Given the description of an element on the screen output the (x, y) to click on. 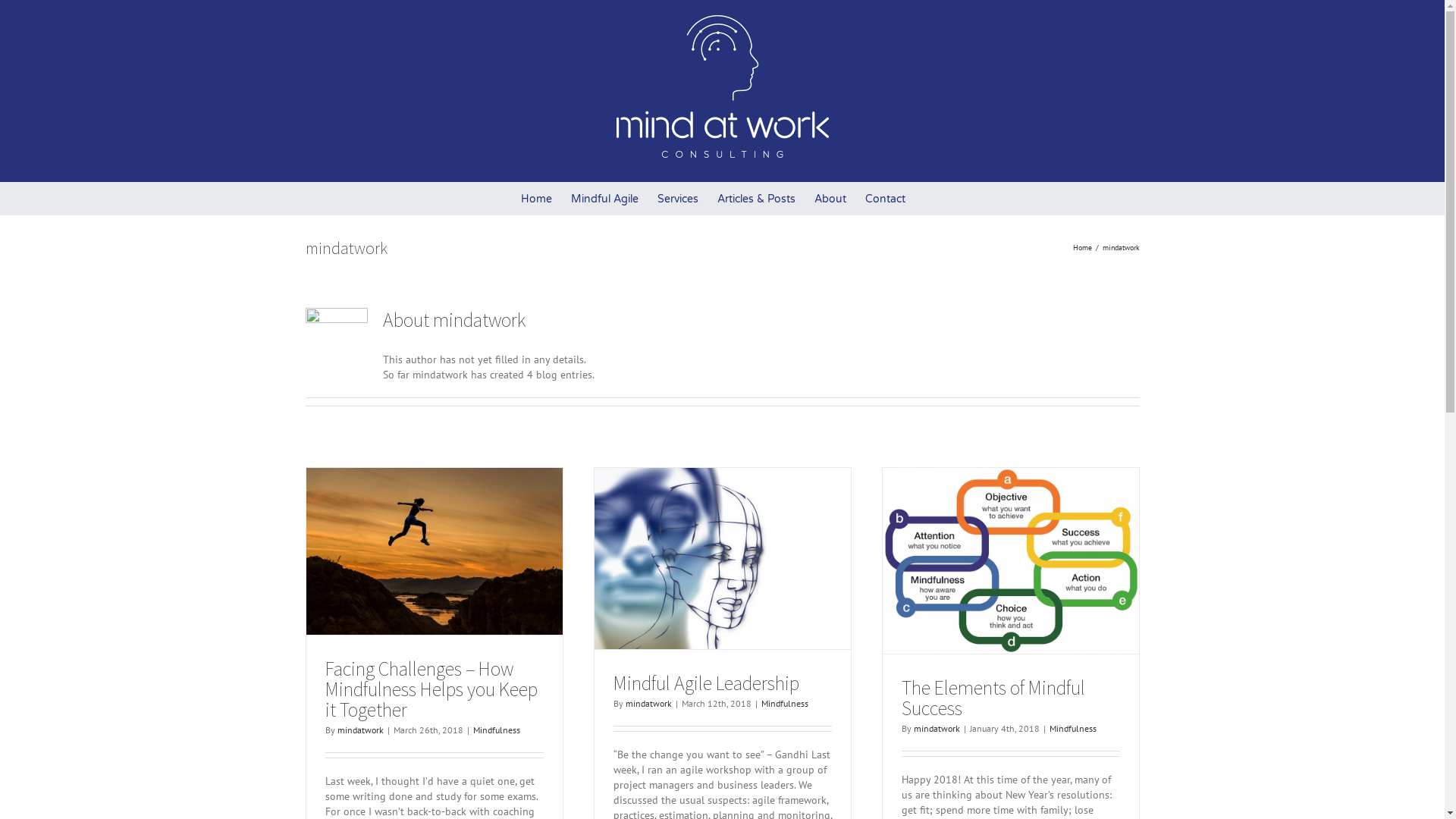
Mindfulness Element type: text (784, 703)
mindatwork Element type: text (647, 703)
The Elements of Mindful Success Element type: text (992, 697)
mindatwork Element type: text (936, 728)
Home Element type: text (1081, 247)
About Element type: text (830, 198)
Mindfulness Element type: text (496, 729)
Home Element type: text (535, 198)
Mindful Agile Element type: text (603, 198)
Services Element type: text (676, 198)
Contact Element type: text (884, 198)
Mindful Agile Leadership Element type: text (705, 682)
Mindfulness Element type: text (1072, 728)
mindatwork Element type: text (359, 729)
Articles & Posts Element type: text (756, 198)
